Given the description of an element on the screen output the (x, y) to click on. 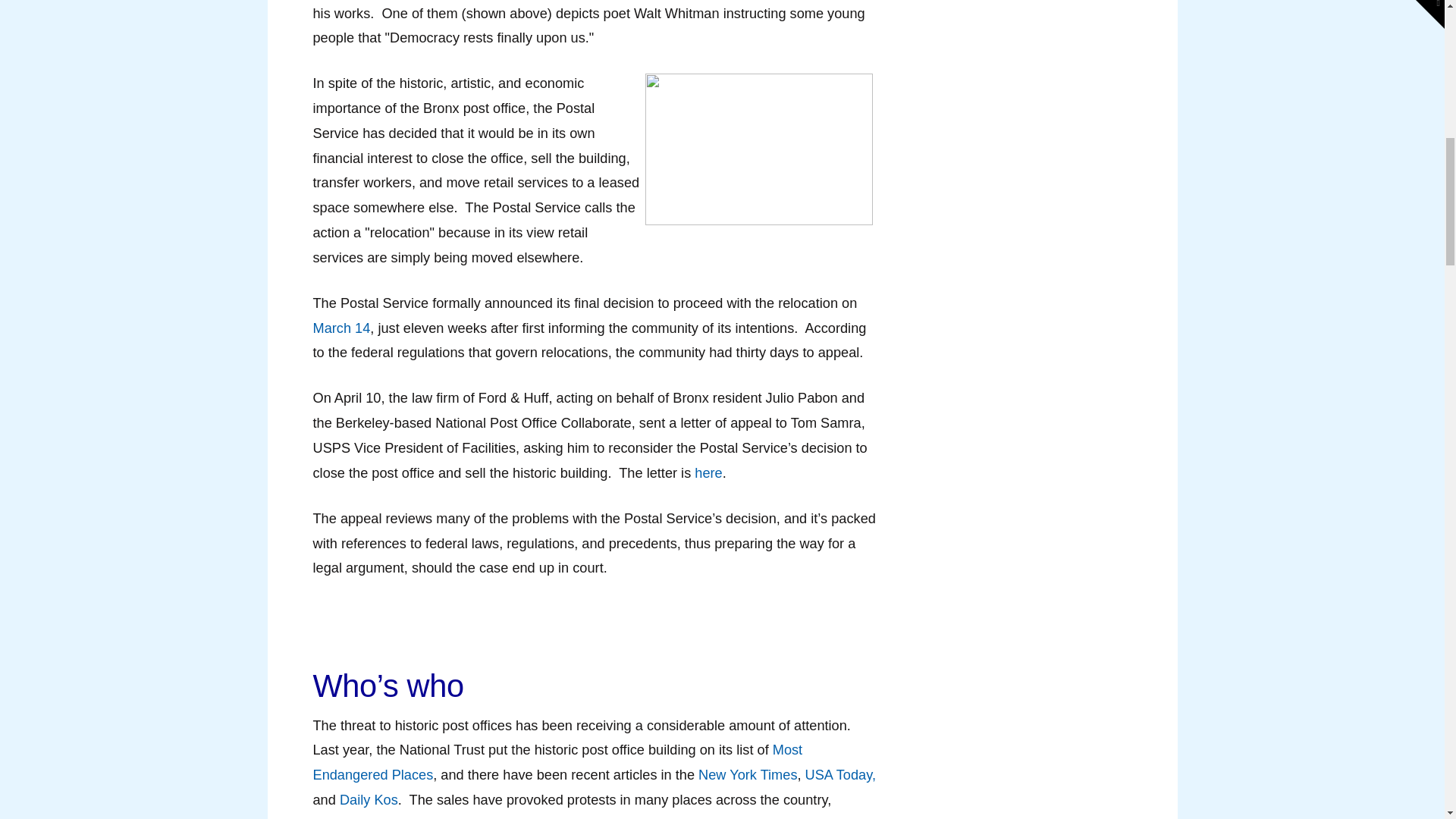
Most Endangered Places (557, 762)
New York Times (747, 774)
USA Today, (840, 774)
Daily Kos (368, 799)
here (708, 473)
March 14 (341, 328)
